Given the description of an element on the screen output the (x, y) to click on. 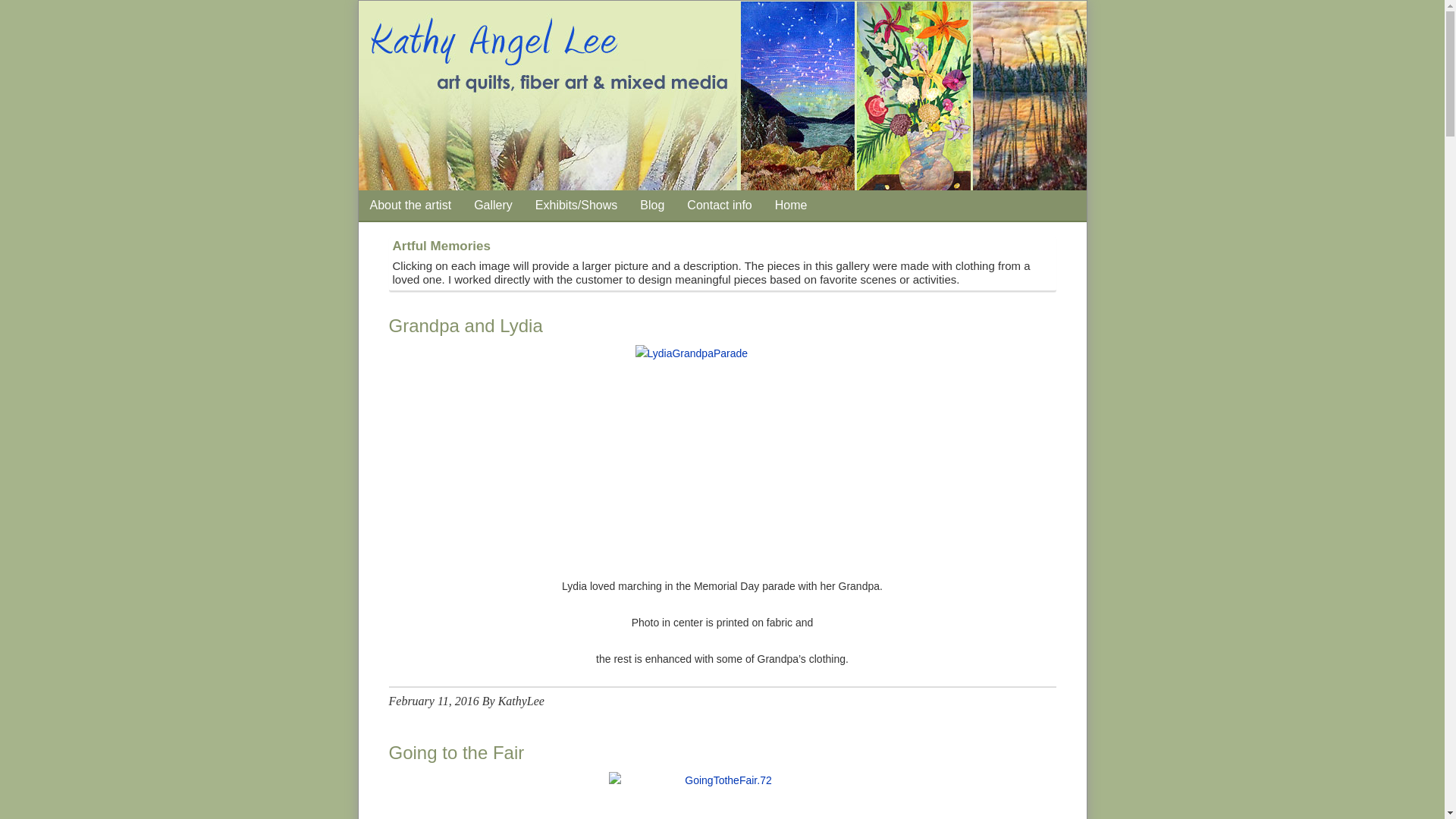
Home (790, 205)
Blog (651, 205)
Going to the Fair (456, 752)
Contact info (718, 205)
Grandpa and Lydia (464, 325)
About the artist (410, 205)
Gallery (493, 205)
